Given the description of an element on the screen output the (x, y) to click on. 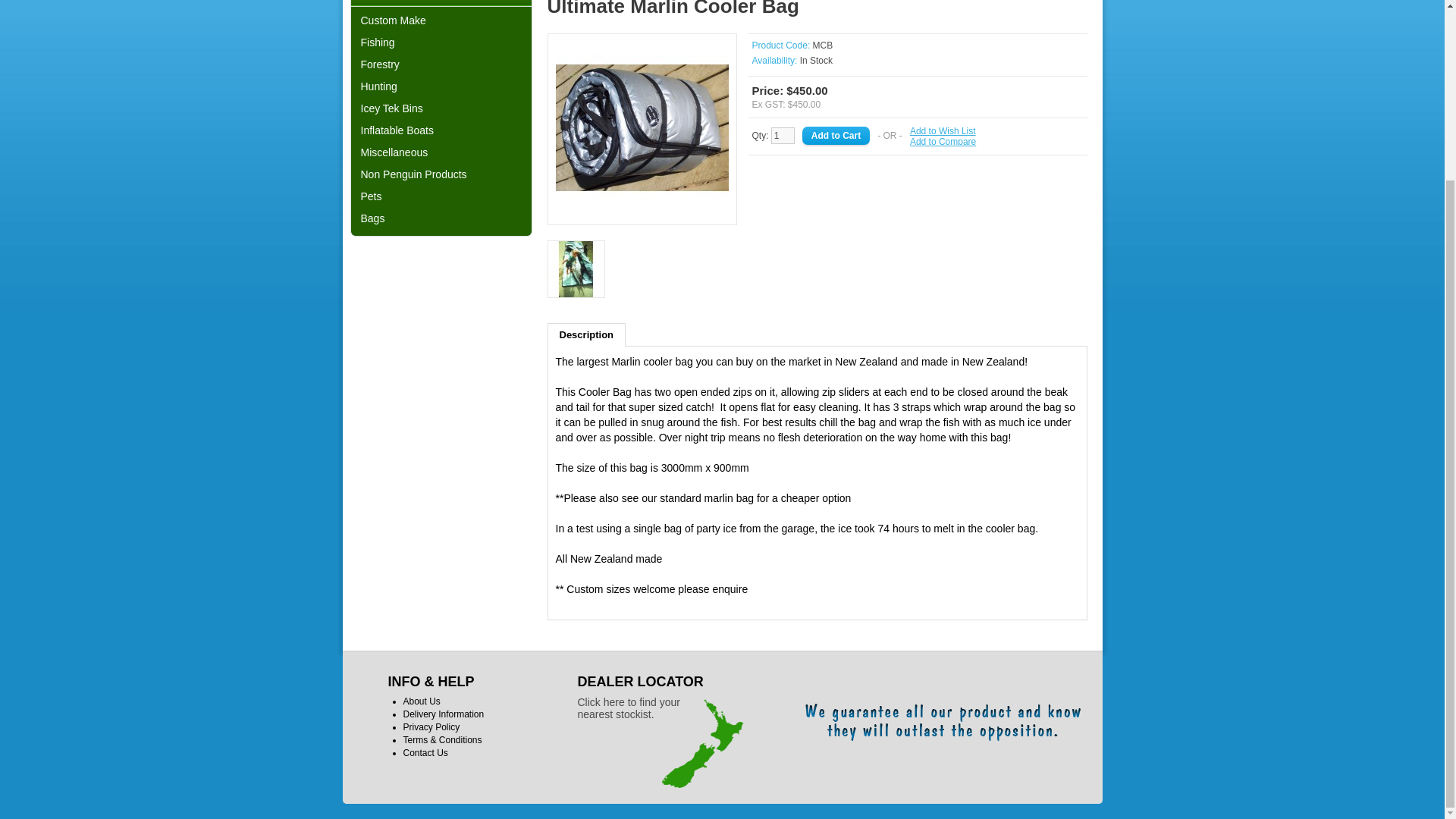
1 (782, 135)
Ultimate Marlin Cooler Bag (576, 269)
Ultimate Marlin Cooler Bag (641, 127)
Ultimate Marlin Cooler Bag (576, 270)
Add to Cart (835, 135)
Ultimate Marlin Cooler Bag (641, 211)
